Given the description of an element on the screen output the (x, y) to click on. 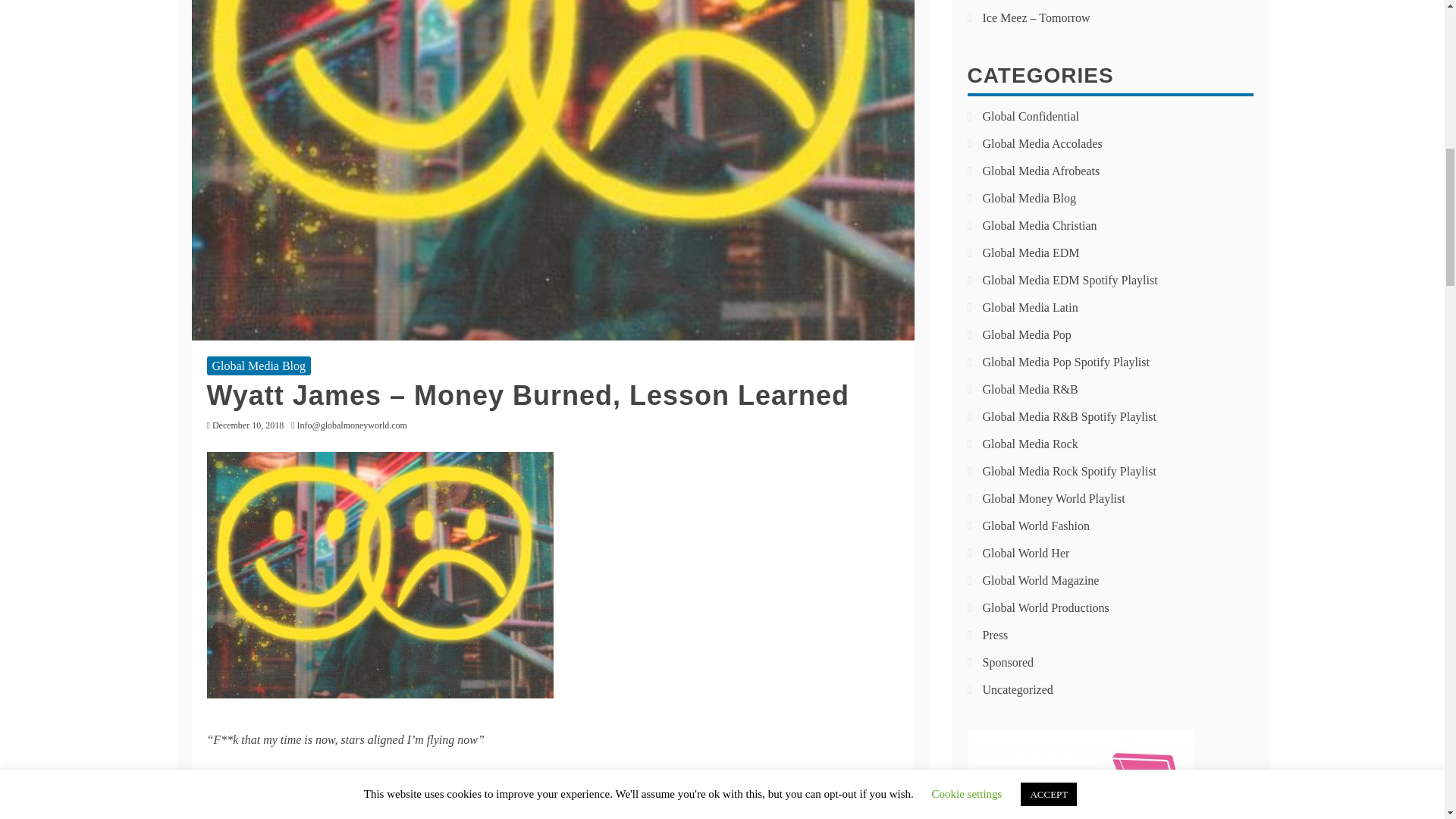
Global Media Blog (258, 365)
